Given the description of an element on the screen output the (x, y) to click on. 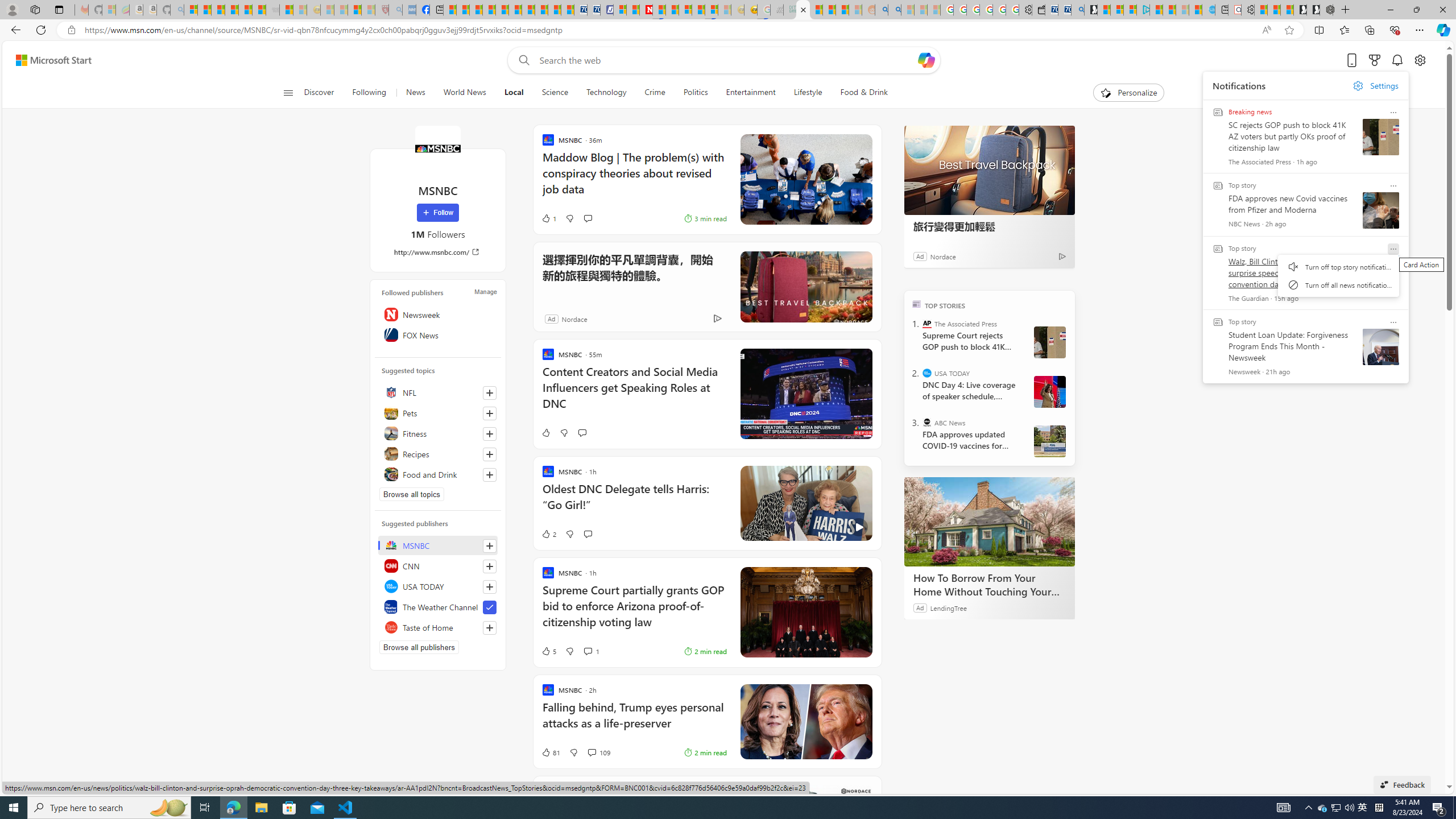
MSNBC (437, 545)
The Weather Channel (437, 606)
